Given the description of an element on the screen output the (x, y) to click on. 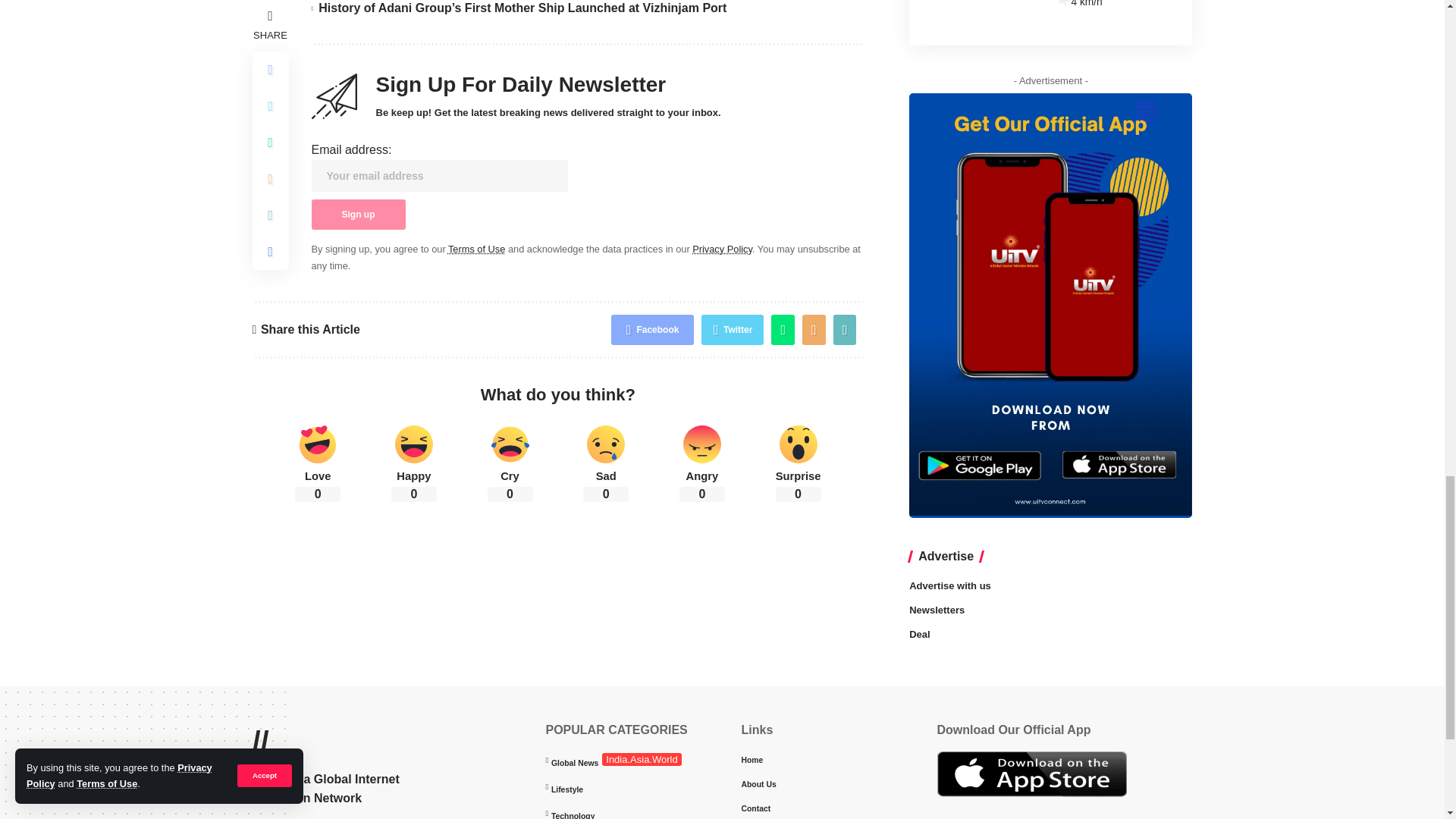
Sign up (357, 214)
